Given the description of an element on the screen output the (x, y) to click on. 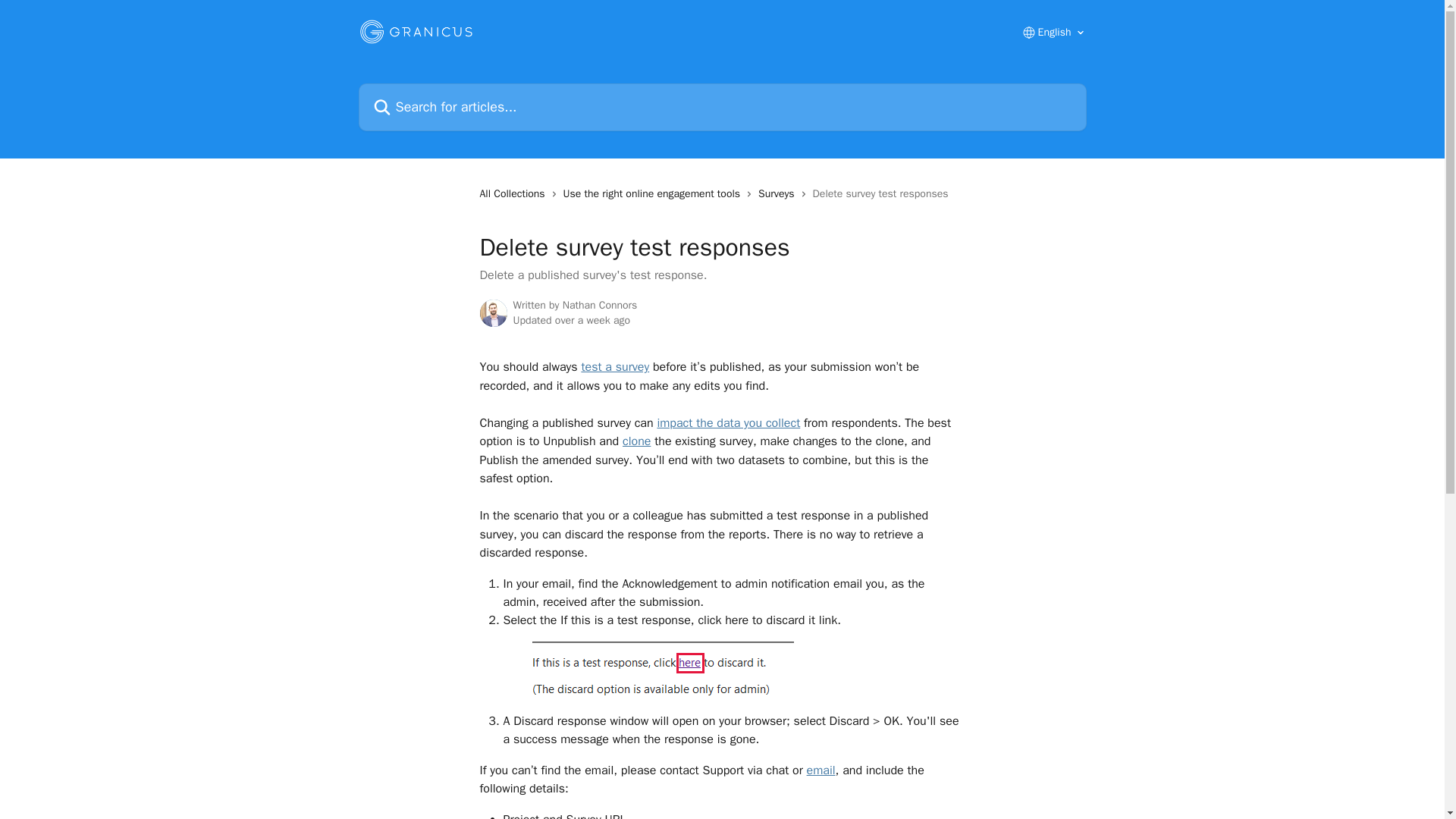
clone (636, 441)
impact the data you collect (727, 422)
Use the right online engagement tools (654, 193)
Surveys (779, 193)
All Collections (514, 193)
email (820, 770)
test a survey (614, 366)
